Given the description of an element on the screen output the (x, y) to click on. 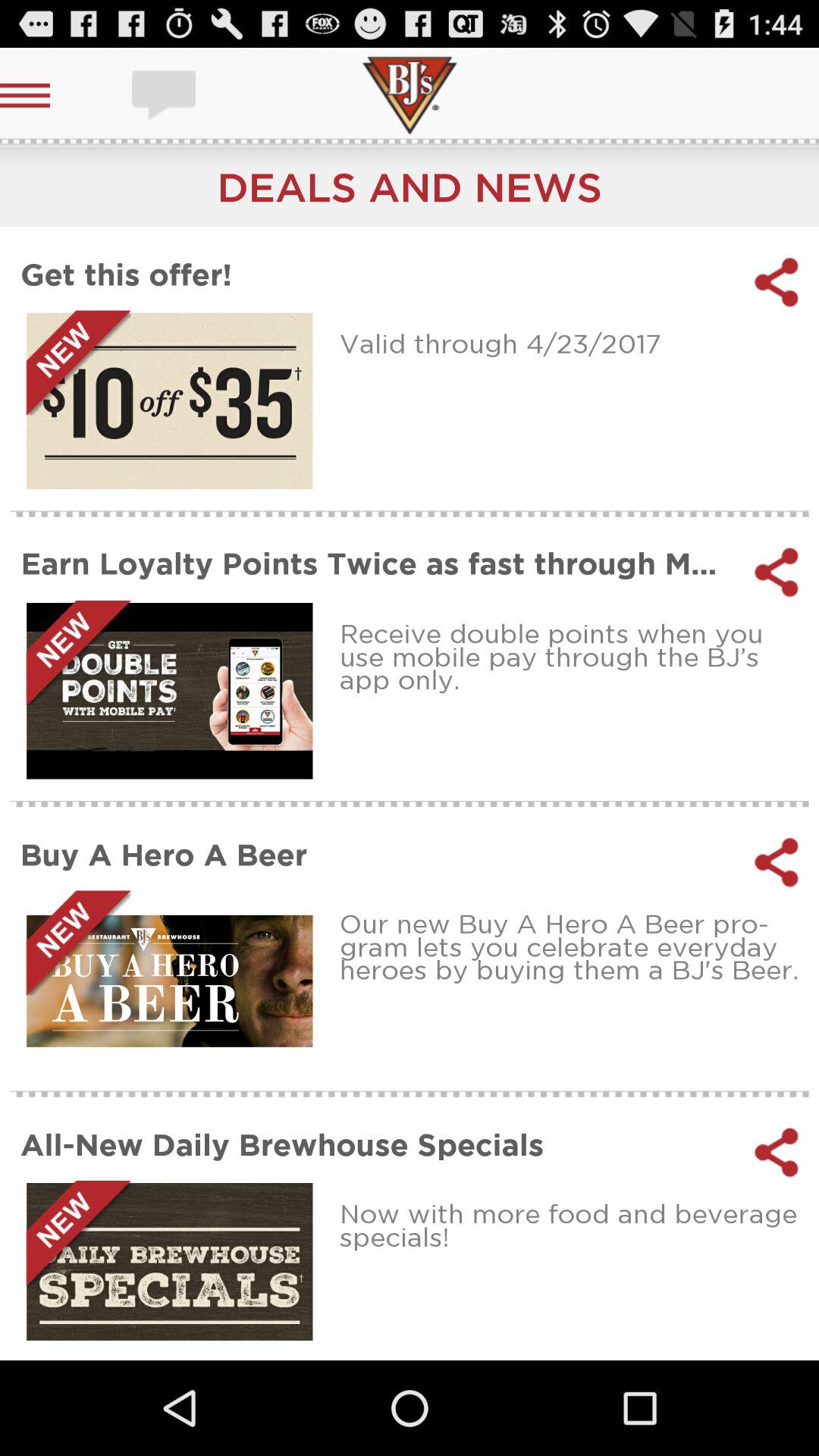
turn on the earn loyalty points (377, 564)
